Given the description of an element on the screen output the (x, y) to click on. 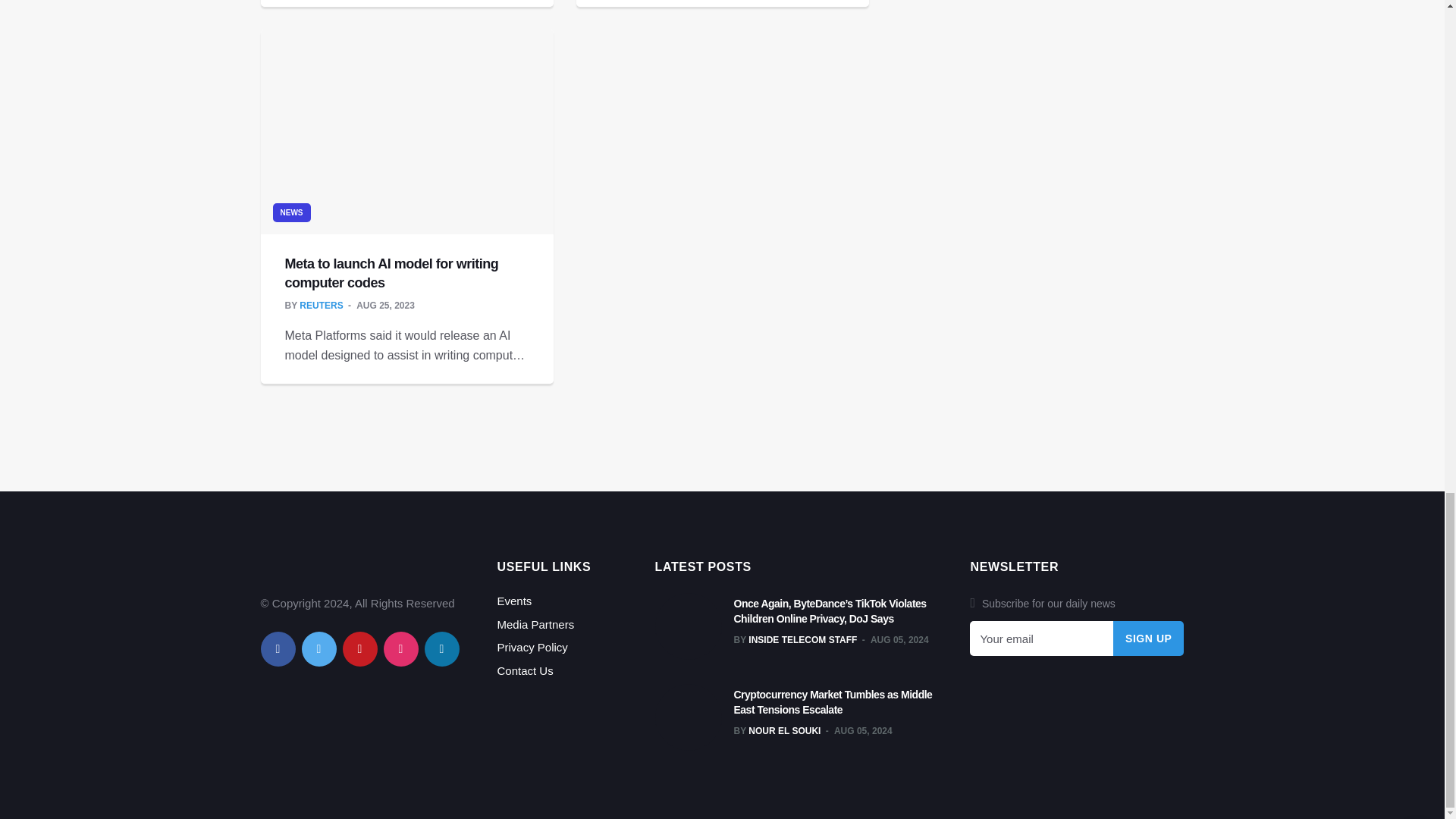
Sign Up (1149, 638)
